Given the description of an element on the screen output the (x, y) to click on. 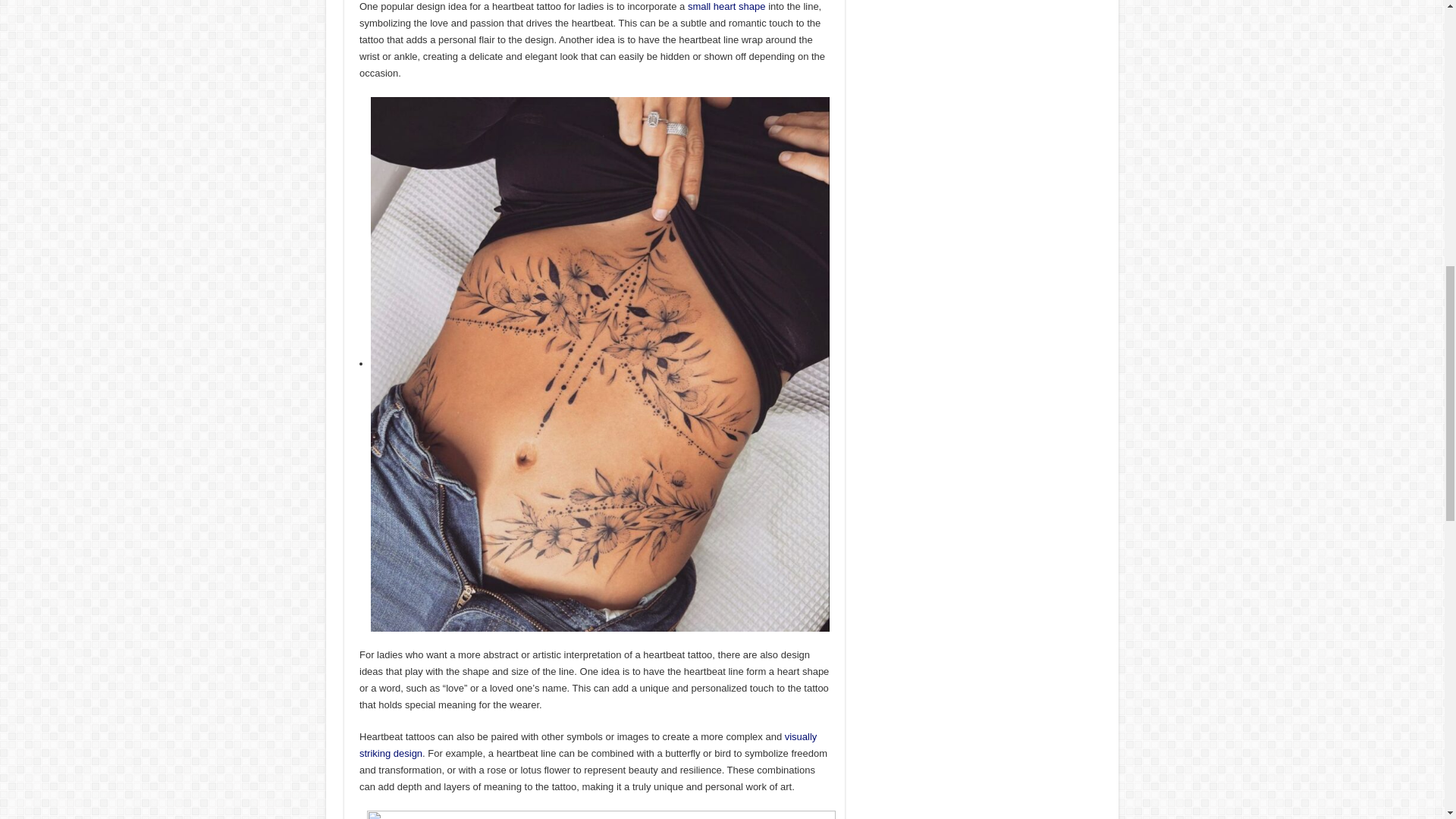
visually striking design (587, 745)
Unleashing the Majesty: Mountain Tattoo Inspiration for Men (587, 745)
small heart shape (726, 6)
